Given the description of an element on the screen output the (x, y) to click on. 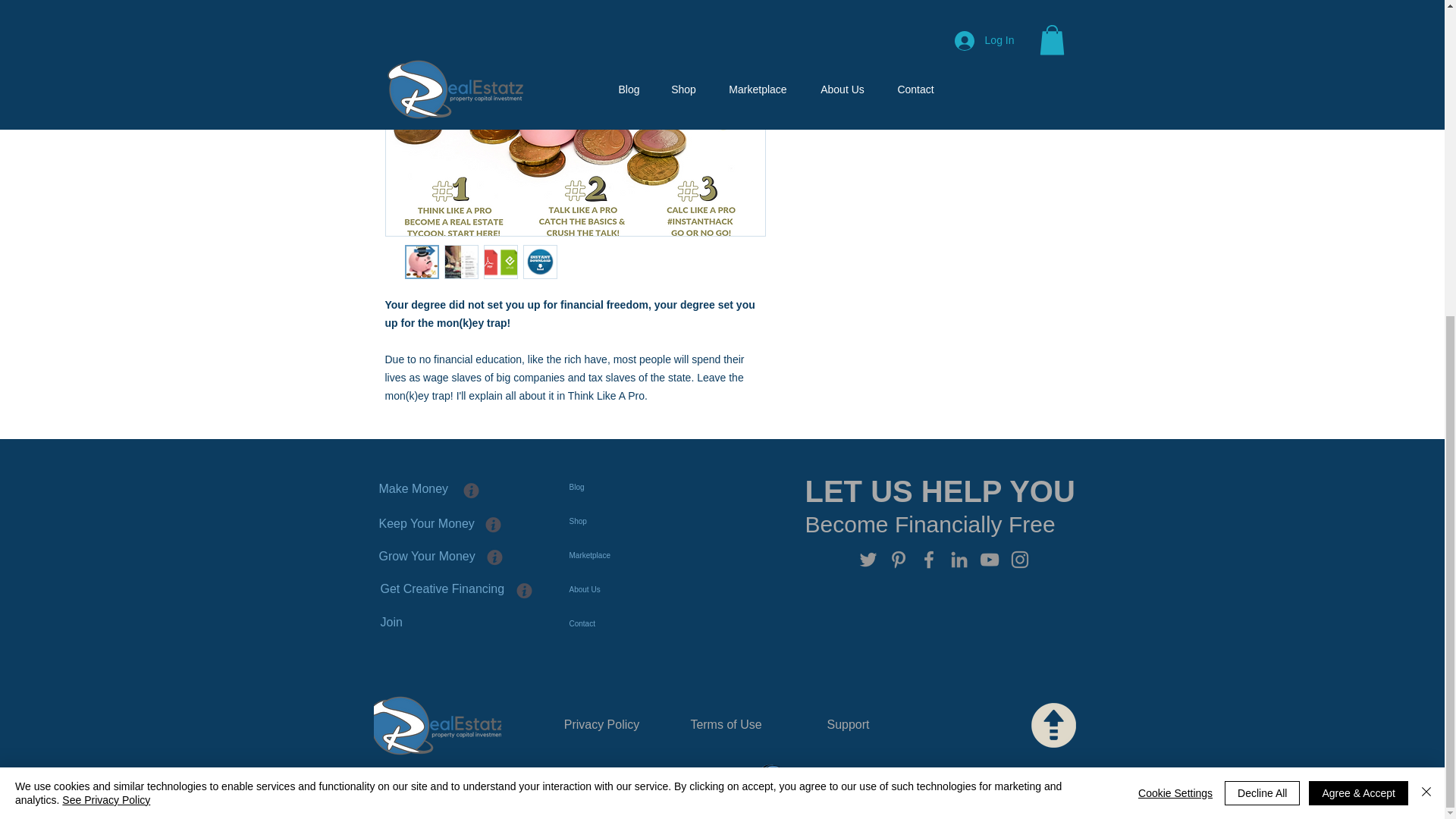
Contact (663, 623)
Keep Your Money (459, 524)
Join (414, 622)
Shop (663, 521)
Marketplace (663, 555)
Decline All (1262, 284)
Grow Your Money (457, 557)
About Us (663, 589)
See Privacy Policy (105, 291)
Terms of Use (726, 725)
